Given the description of an element on the screen output the (x, y) to click on. 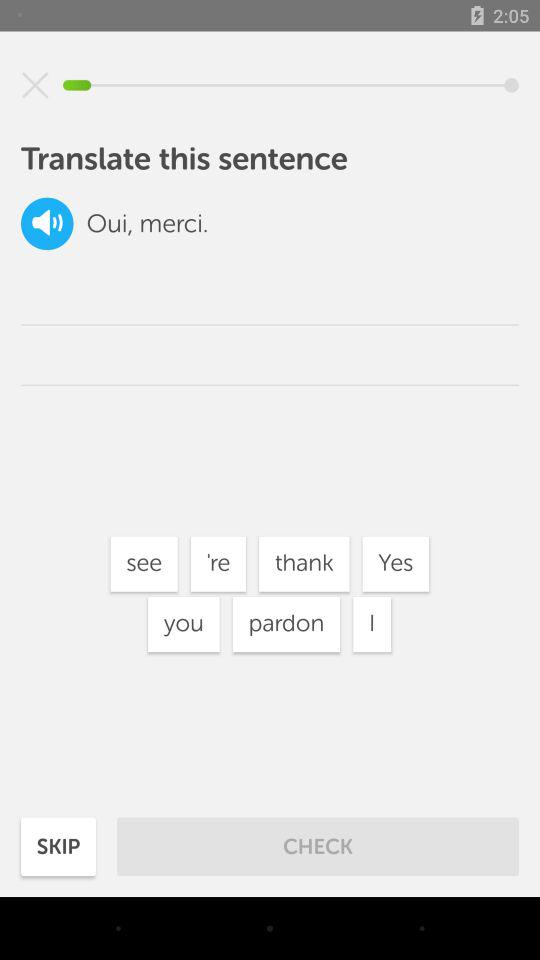
launch pardon (286, 624)
